Given the description of an element on the screen output the (x, y) to click on. 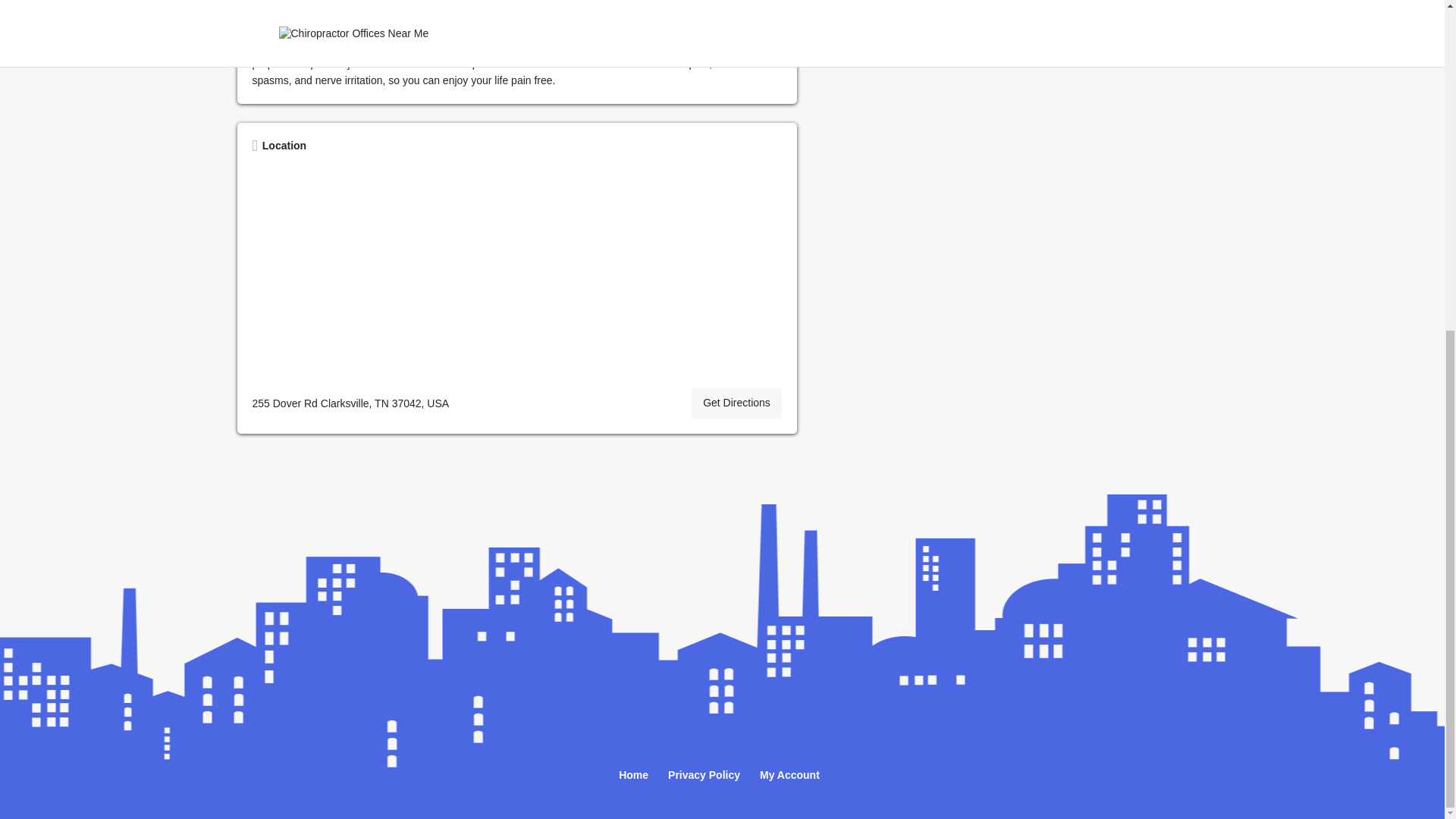
Home (633, 775)
My Account (789, 775)
Privacy Policy (703, 775)
Get Directions (736, 403)
